Given the description of an element on the screen output the (x, y) to click on. 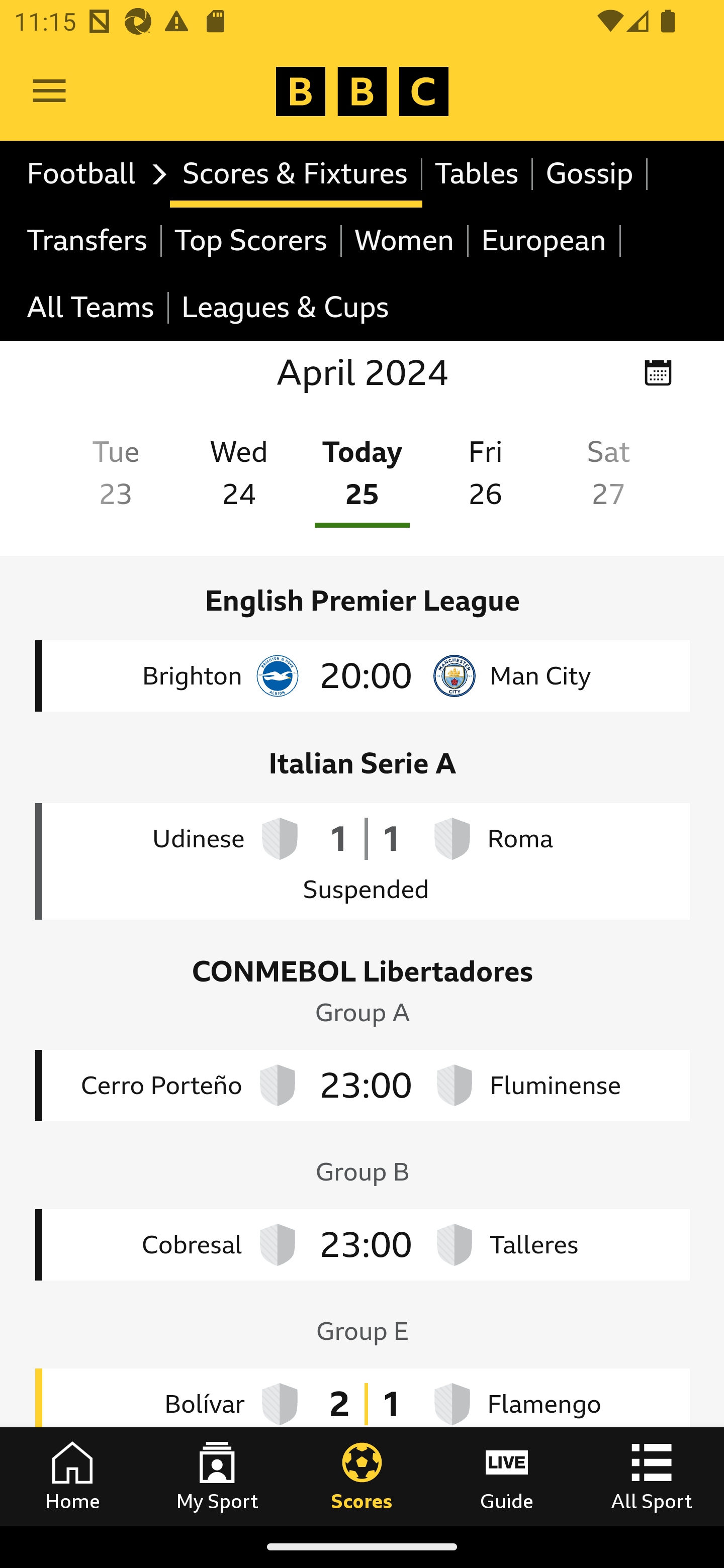
Open Menu (49, 91)
Football (91, 173)
Scores & Fixtures (295, 173)
Tables (477, 173)
Gossip (590, 173)
Transfers (88, 240)
Top Scorers (251, 240)
Women (405, 240)
European (544, 240)
All Teams (91, 308)
Leagues & Cups (284, 308)
Home (72, 1475)
My Sport (216, 1475)
Guide (506, 1475)
All Sport (651, 1475)
